Given the description of an element on the screen output the (x, y) to click on. 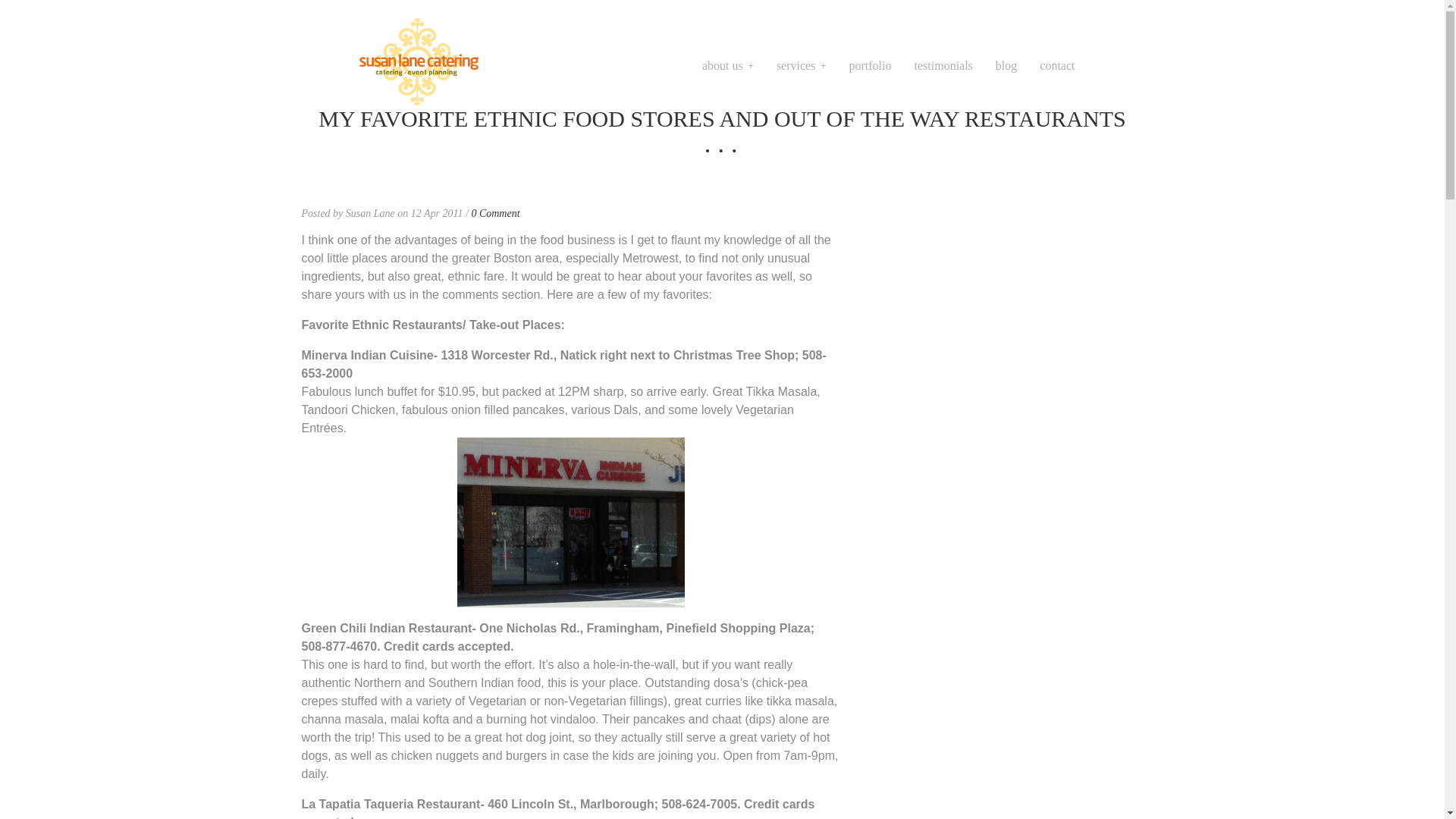
portfolio (869, 66)
contact (1056, 66)
testimonials (943, 66)
services (801, 66)
blog (1005, 66)
about us (727, 66)
